Given the description of an element on the screen output the (x, y) to click on. 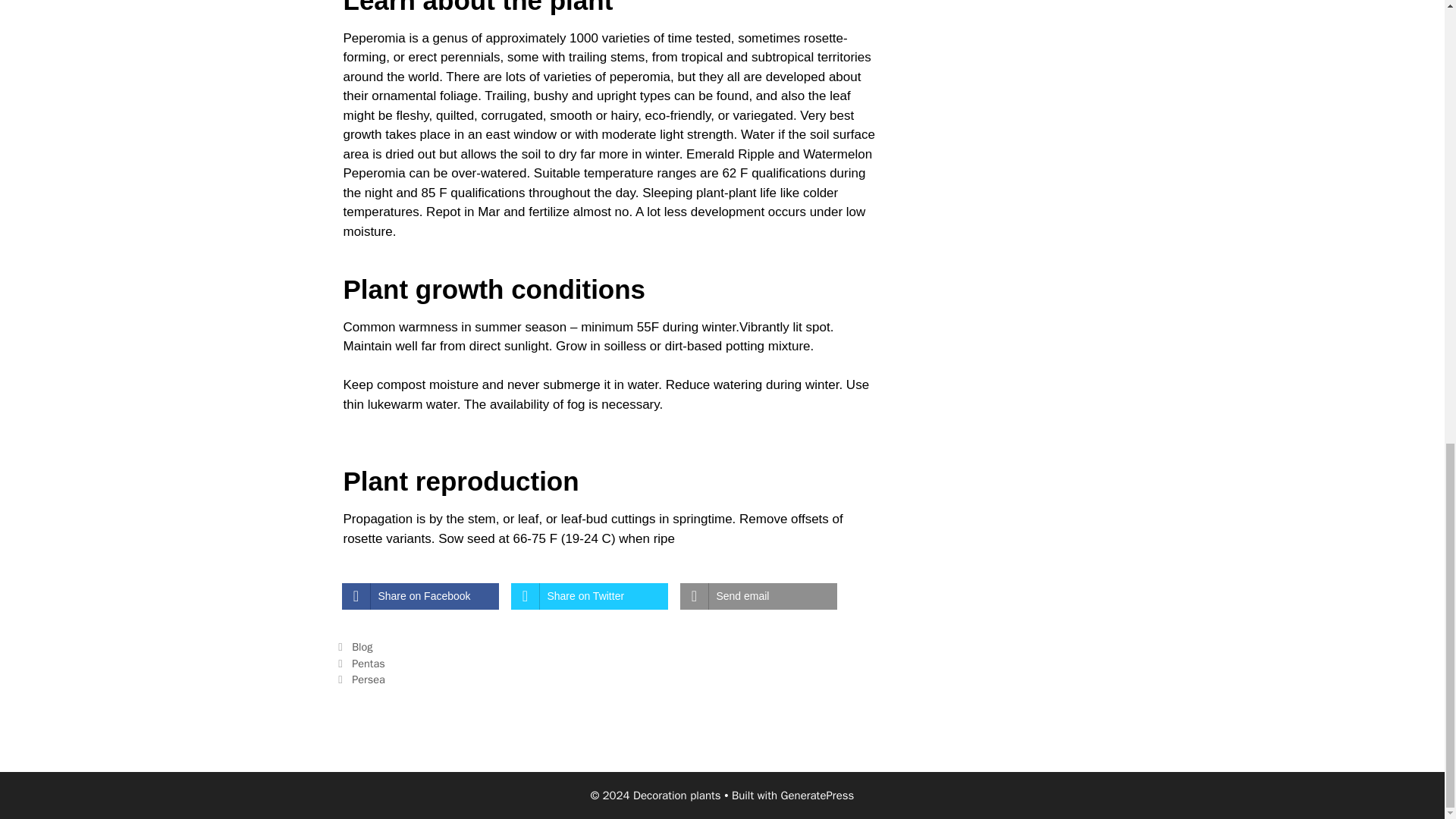
Pentas (368, 663)
Share on Twitter (589, 596)
Blog (362, 646)
Send email (757, 596)
Share on Facebook (418, 596)
Persea (368, 679)
GeneratePress (817, 795)
Share it on Email (757, 596)
Share on Facebook (418, 596)
Share on Twitter (589, 596)
